Given the description of an element on the screen output the (x, y) to click on. 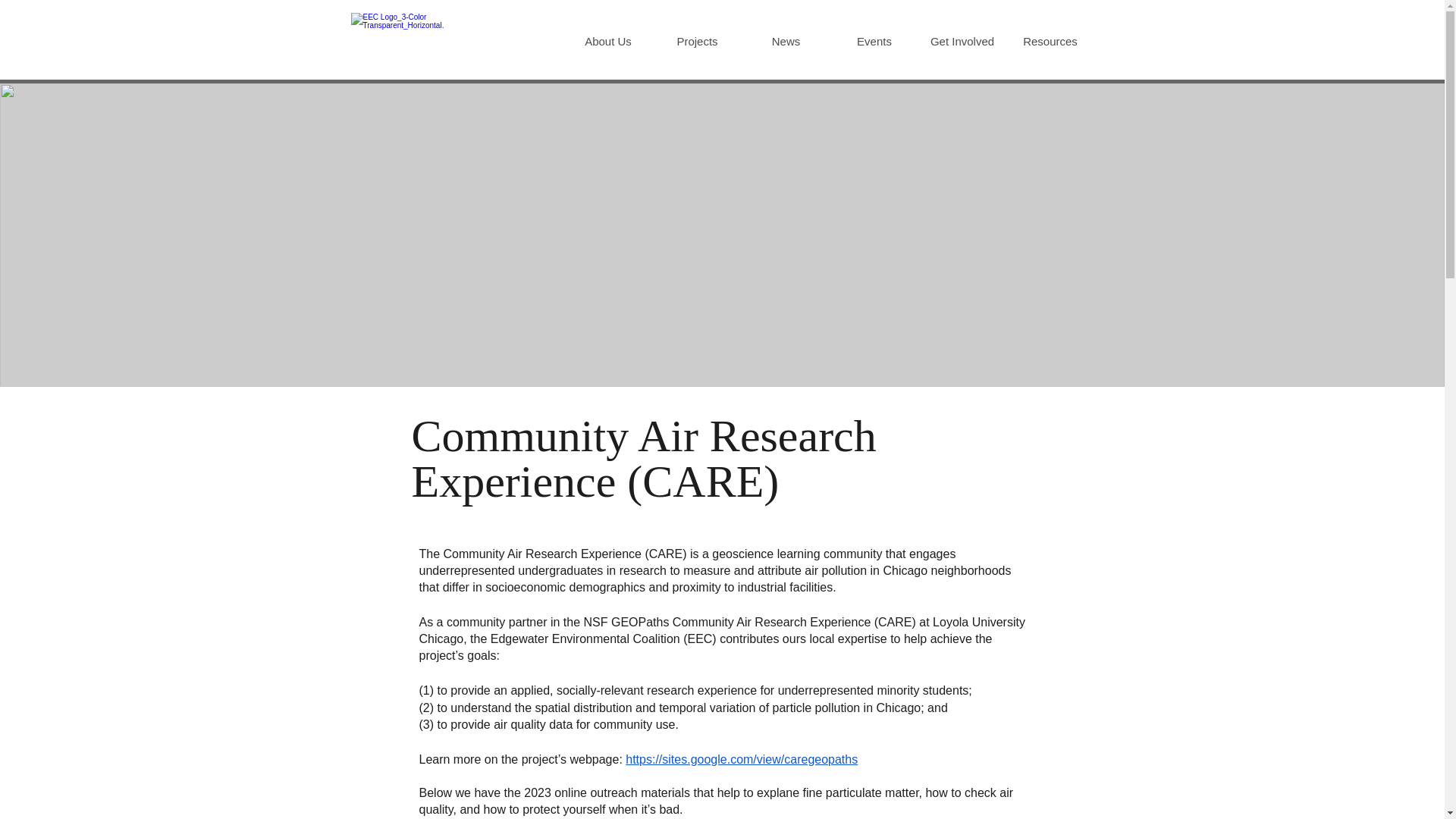
About Us (608, 41)
Events (873, 41)
News (785, 41)
Projects (696, 41)
Get Involved (961, 41)
Home (423, 41)
Resources (1049, 41)
